Given the description of an element on the screen output the (x, y) to click on. 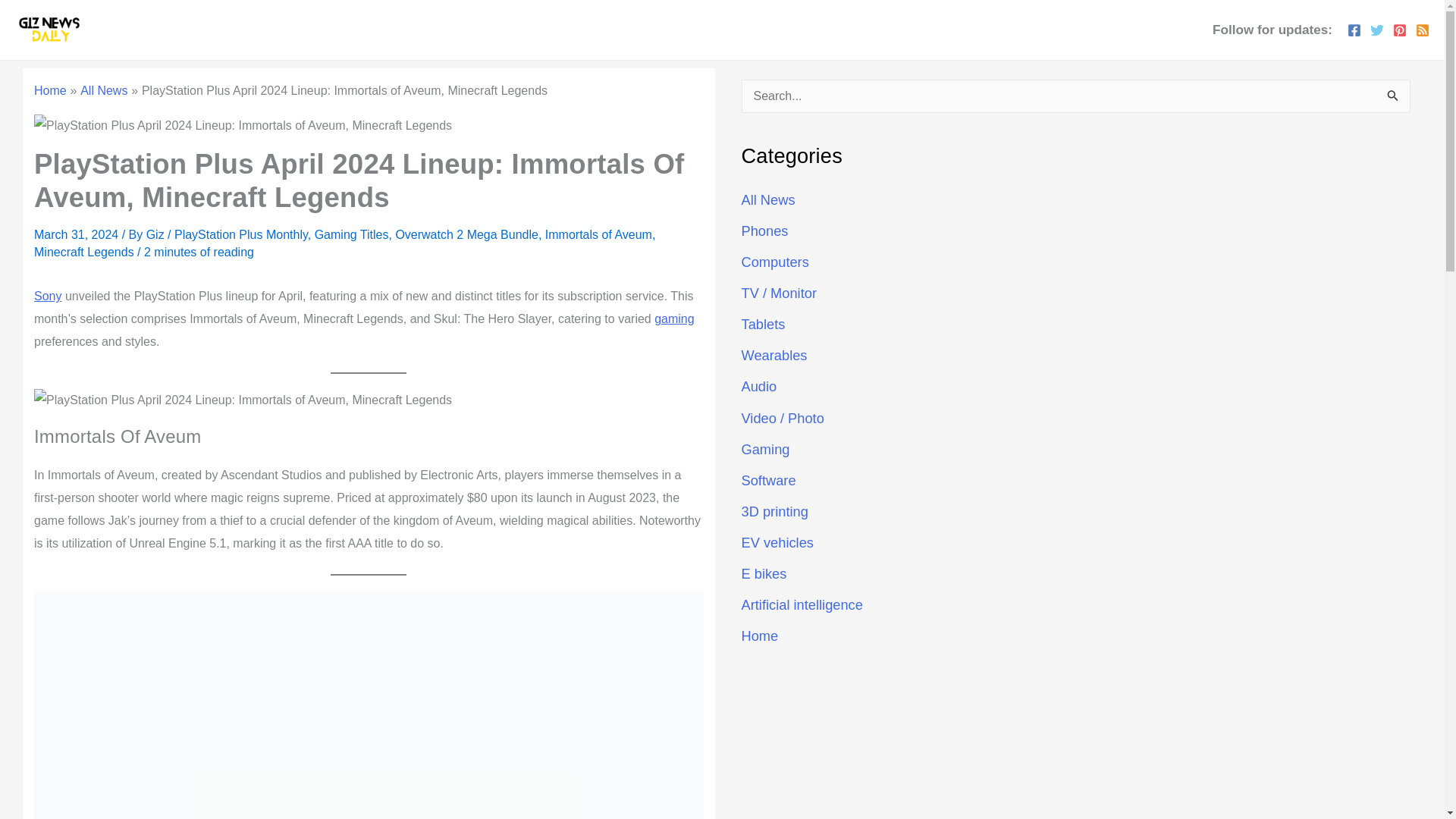
Home (49, 90)
All News (104, 90)
Gaming Titles (351, 234)
Giz (157, 234)
PlayStation Plus Monthly (240, 234)
View all posts by Giz (157, 234)
